Given the description of an element on the screen output the (x, y) to click on. 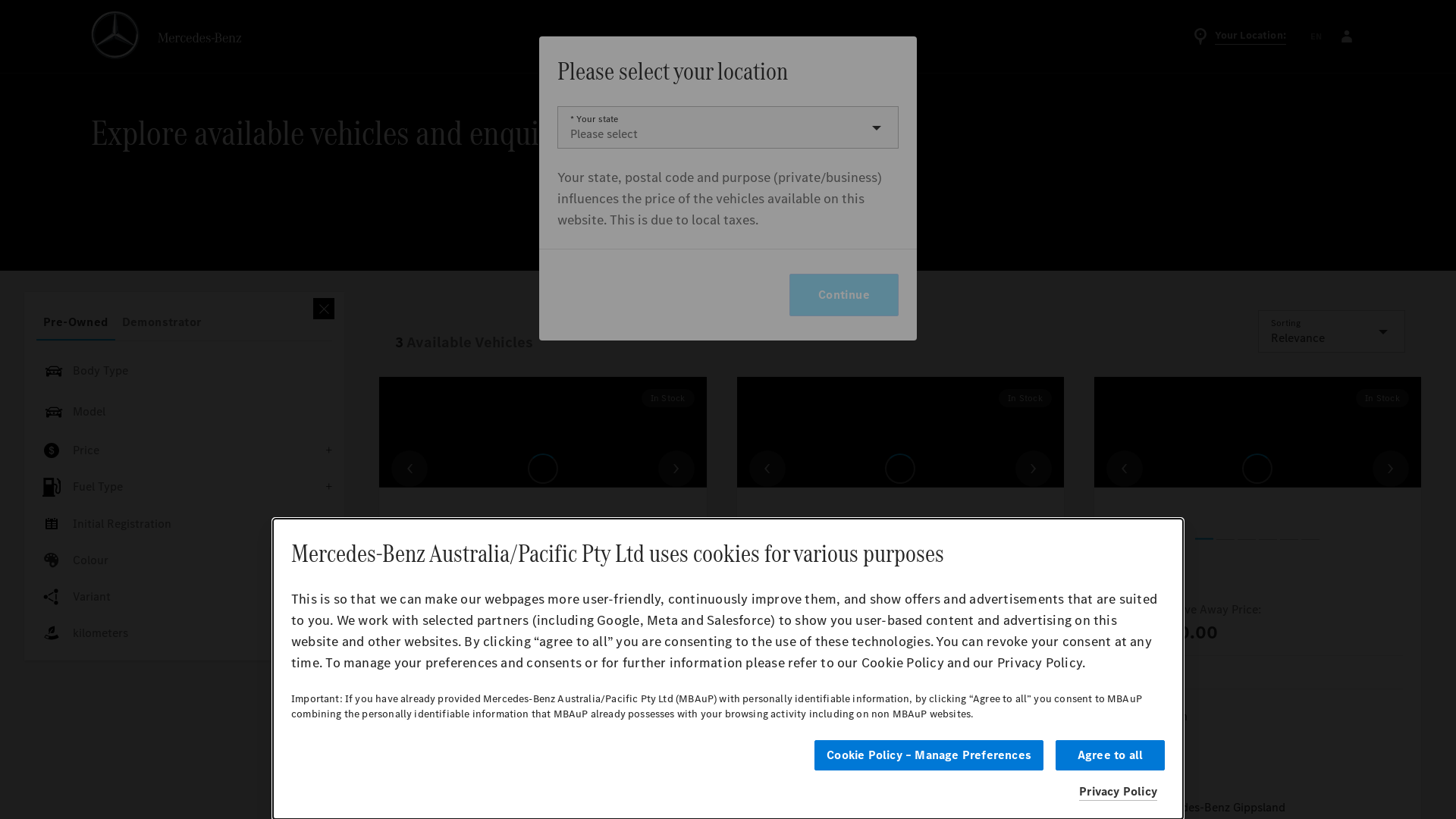
Pre-Owned Element type: text (75, 322)
Demonstrator Element type: text (161, 322)
EN Element type: text (1316, 36)
Continue Element type: text (843, 294)
Your Location: Element type: text (1239, 36)
